Given the description of an element on the screen output the (x, y) to click on. 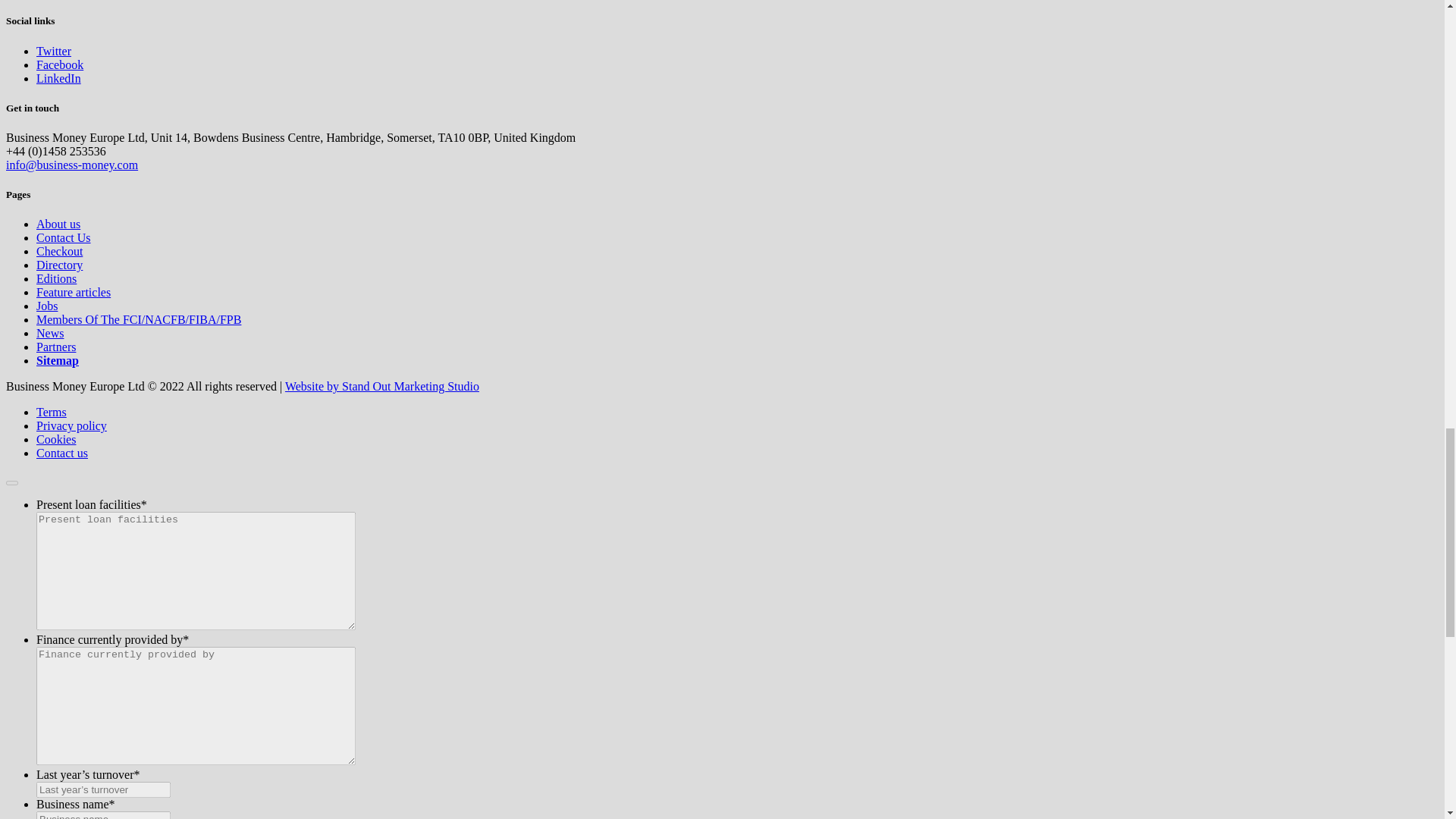
Facebook (59, 64)
